Given the description of an element on the screen output the (x, y) to click on. 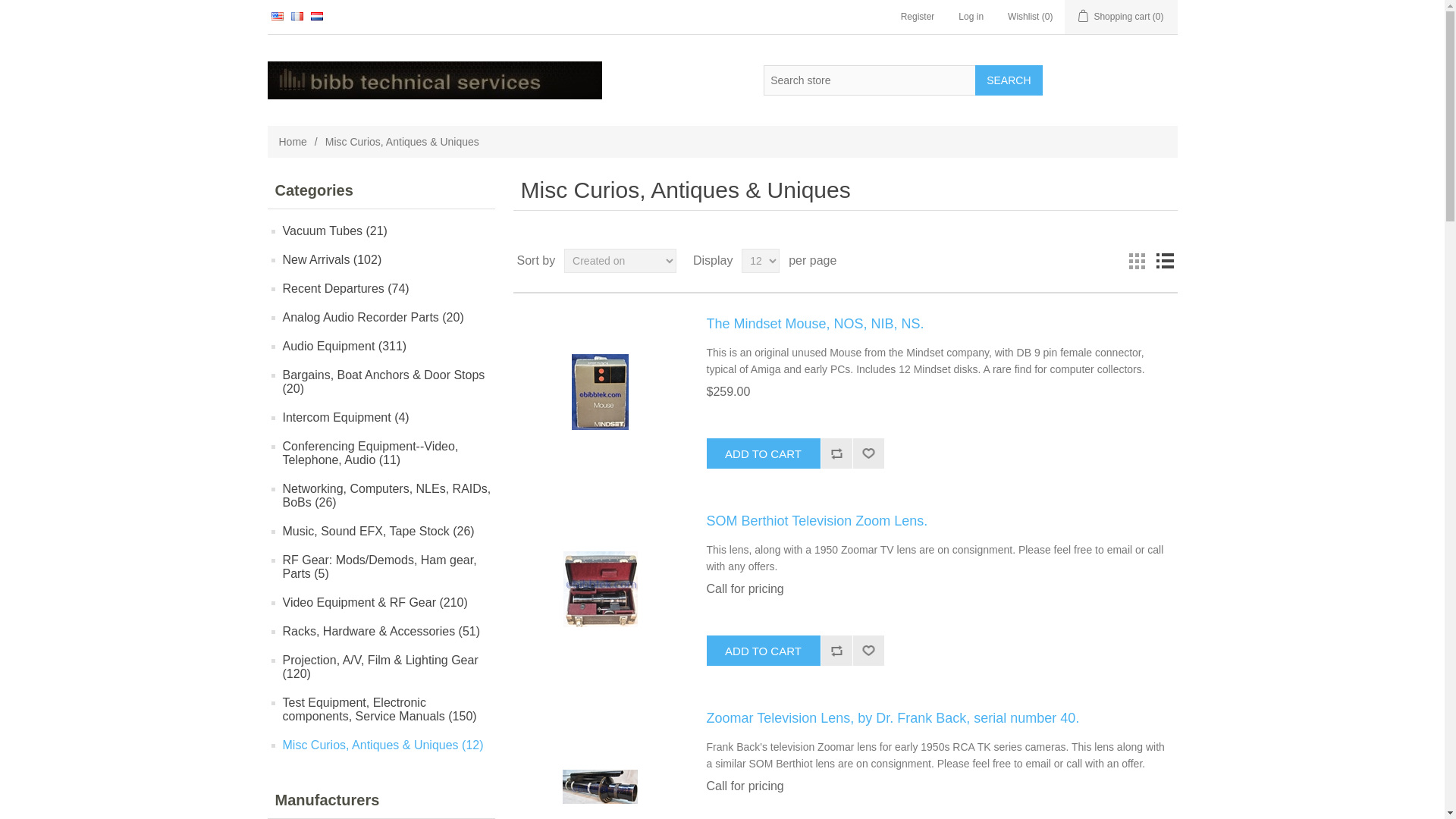
Search (1008, 80)
Add to cart (763, 650)
Add to compare list (836, 453)
Add to wishlist (867, 453)
Nederlands (317, 16)
Show details for The Mindset Mouse, NOS, NIB, NS. (600, 391)
Add to wishlist (867, 453)
Home (293, 141)
English (276, 16)
Search (1008, 80)
Show details for SOM Berthiot Television Zoom Lens. (599, 589)
Search (1008, 80)
Francais (296, 16)
Register (917, 17)
Show details for SOM Berthiot Television Zoom Lens. (600, 589)
